Given the description of an element on the screen output the (x, y) to click on. 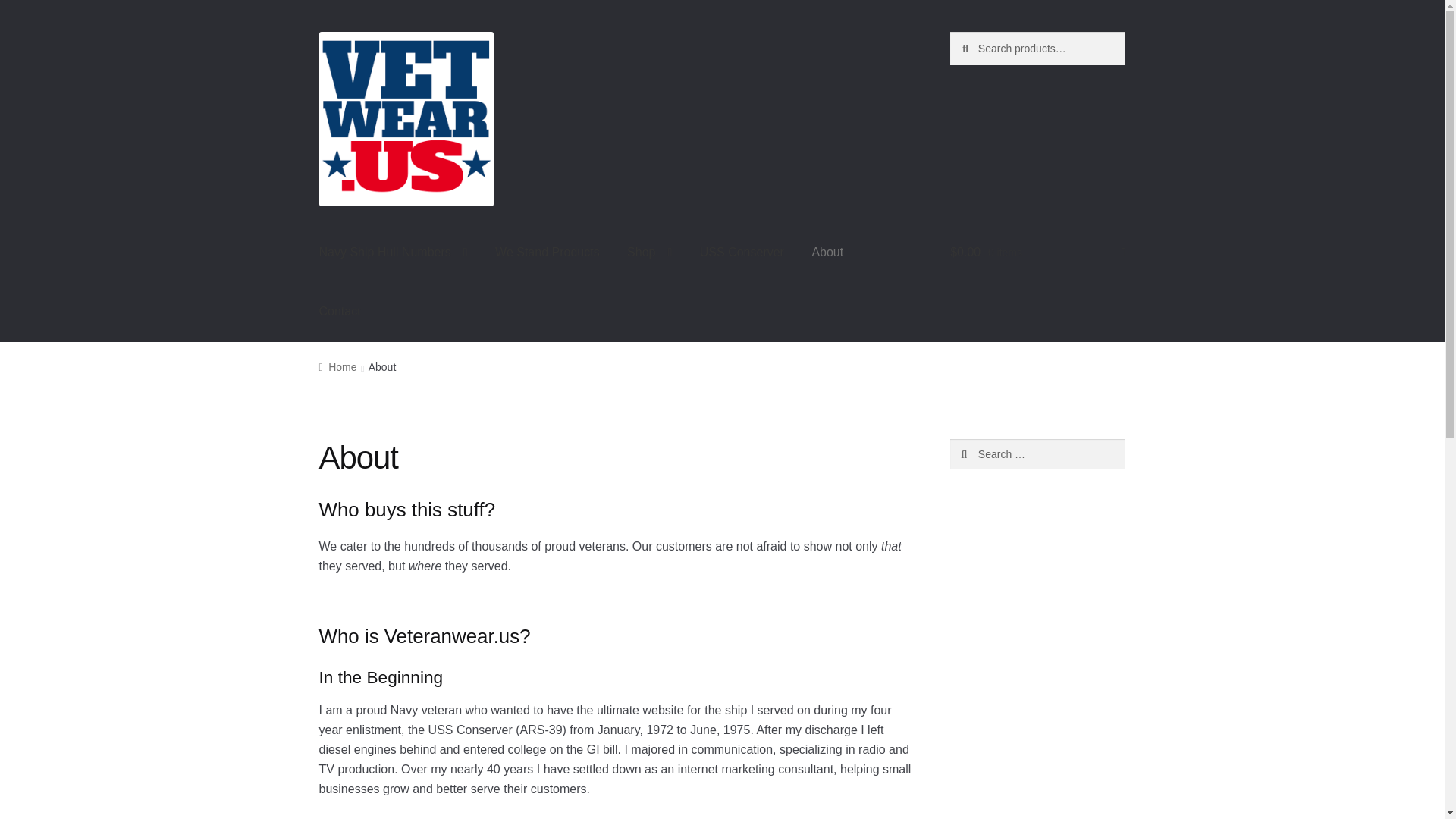
Home (337, 367)
We Stand Products (547, 252)
USS Conserver (741, 252)
About (827, 252)
View your shopping cart (1037, 252)
Contact (339, 311)
Navy Ship Hull Numbers (393, 252)
Shop (649, 252)
